Given the description of an element on the screen output the (x, y) to click on. 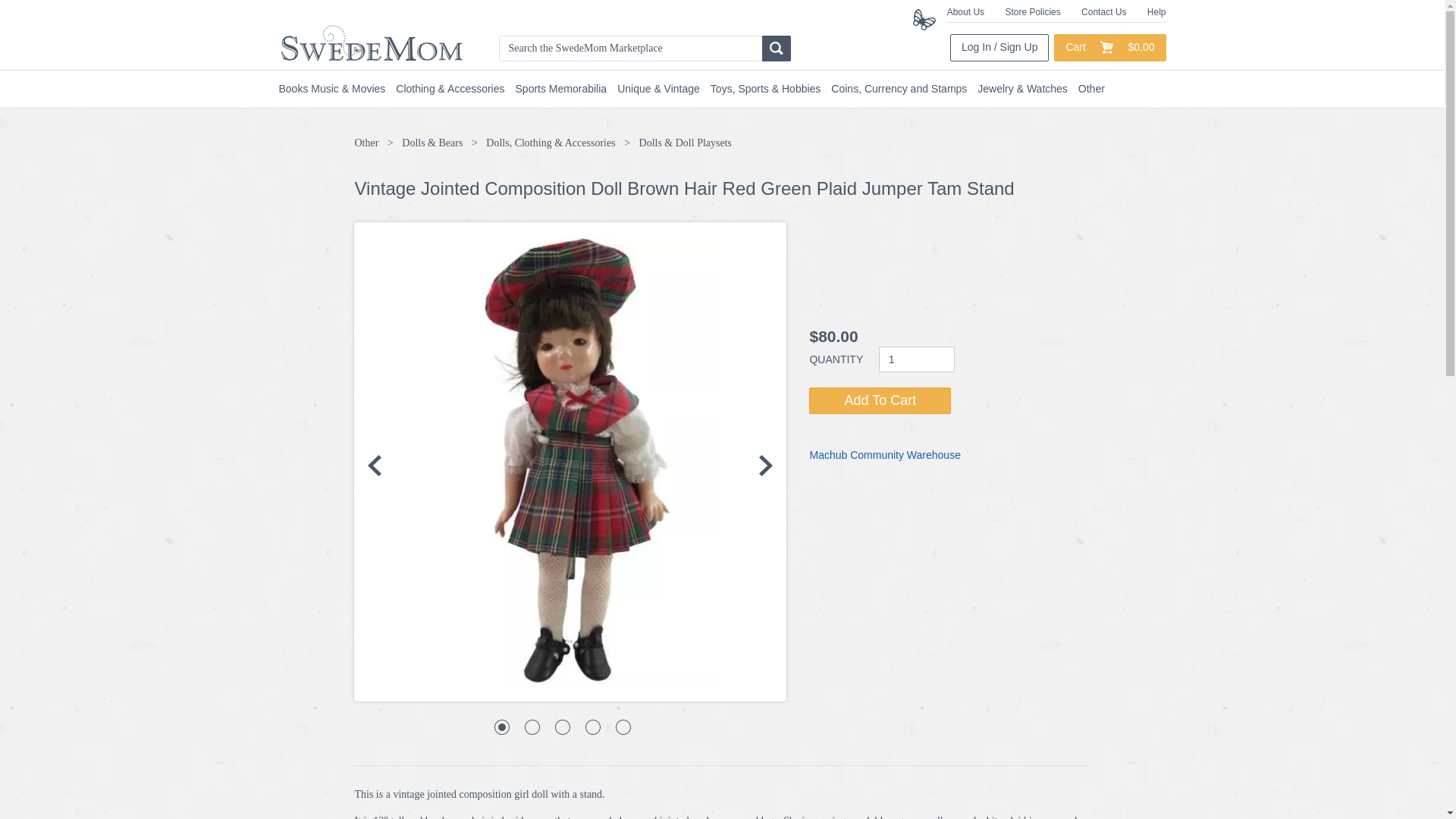
Sports Memorabilia (566, 89)
1 (917, 359)
About Us (965, 11)
Help (1156, 11)
Contact Us (1103, 11)
Store Policies (1031, 11)
